Given the description of an element on the screen output the (x, y) to click on. 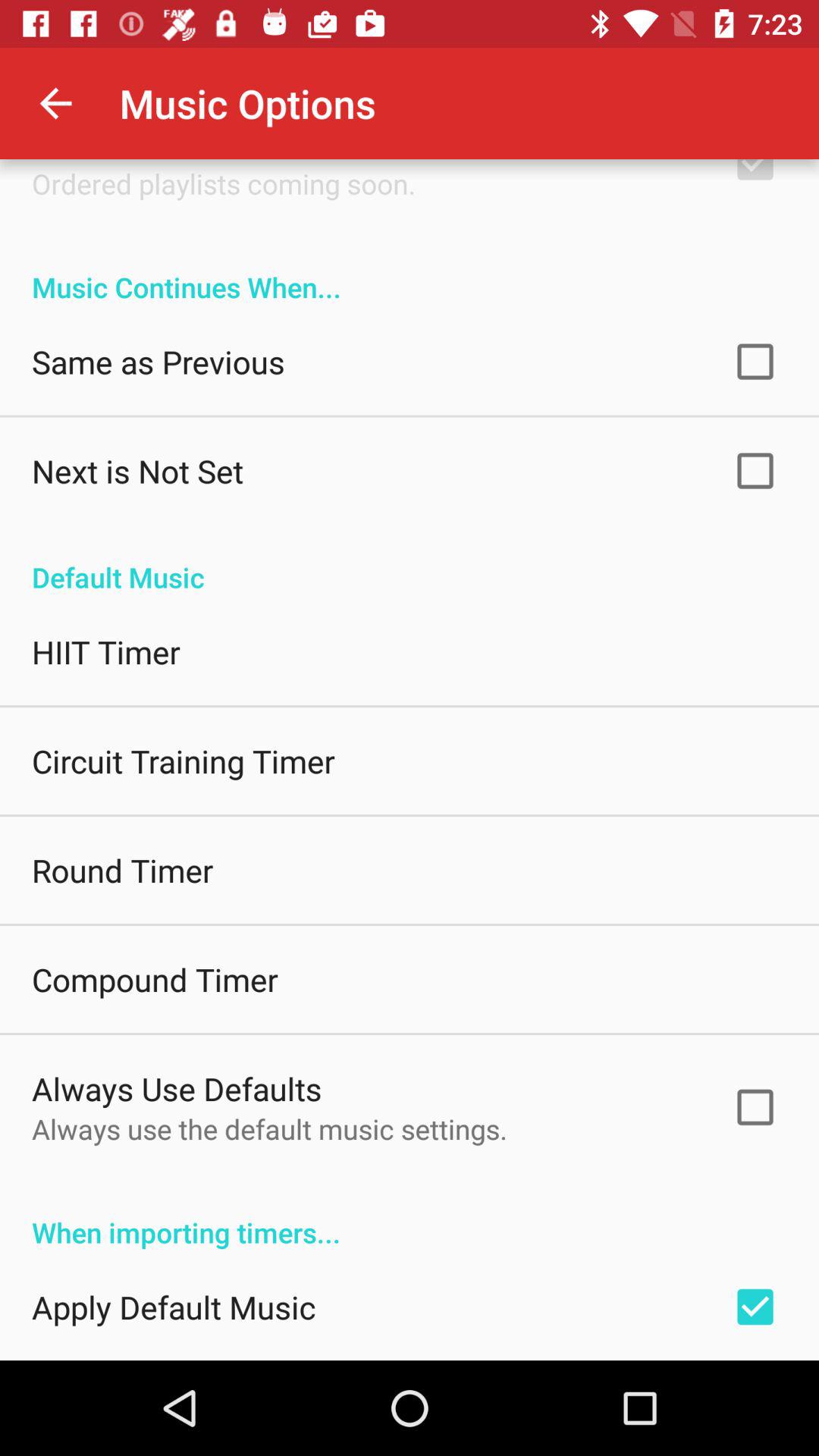
scroll until hiit timer icon (105, 651)
